Given the description of an element on the screen output the (x, y) to click on. 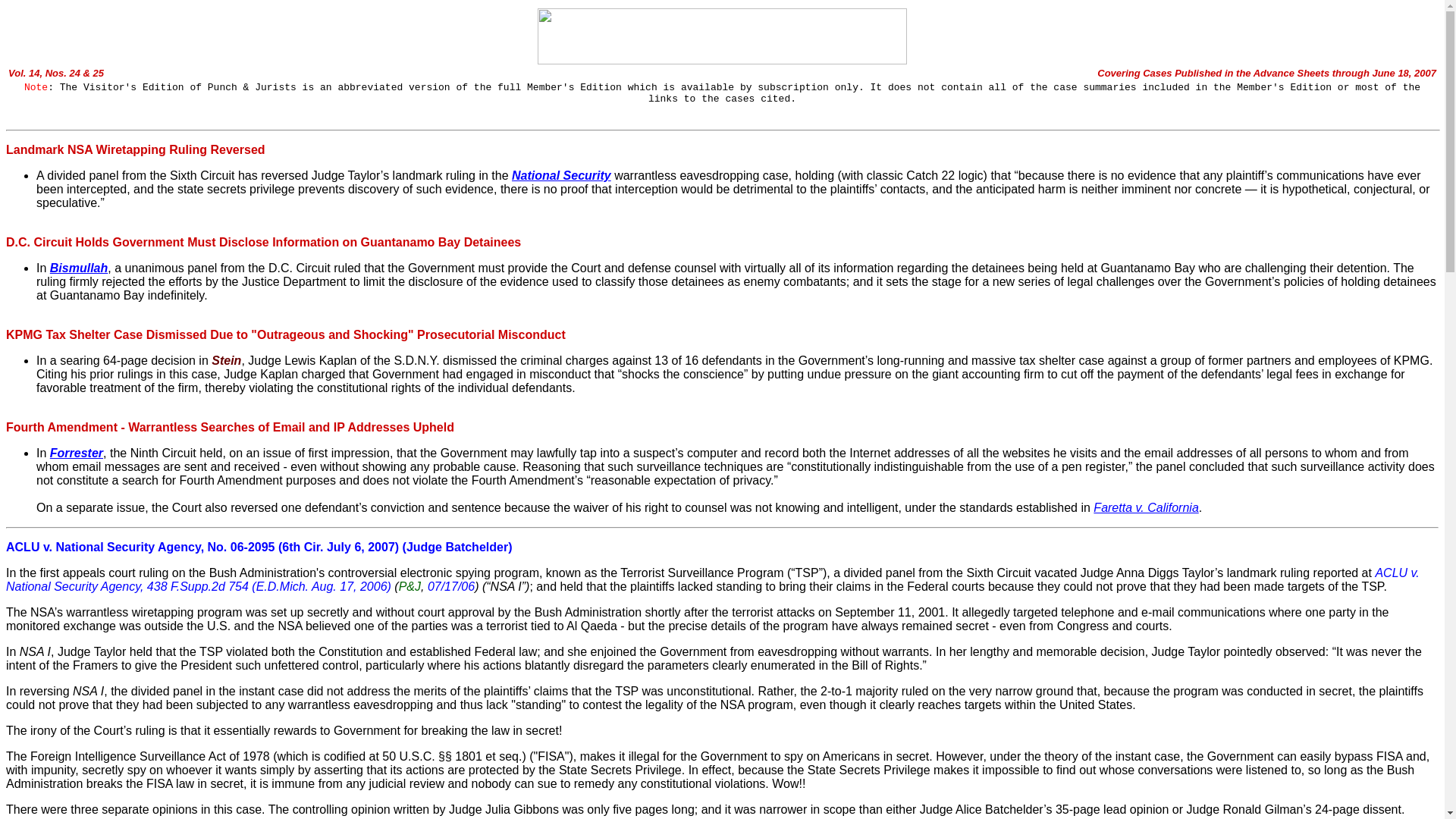
Faretta v. California (1145, 507)
Forrester (76, 452)
National Security (561, 174)
Bismullah (78, 267)
